Given the description of an element on the screen output the (x, y) to click on. 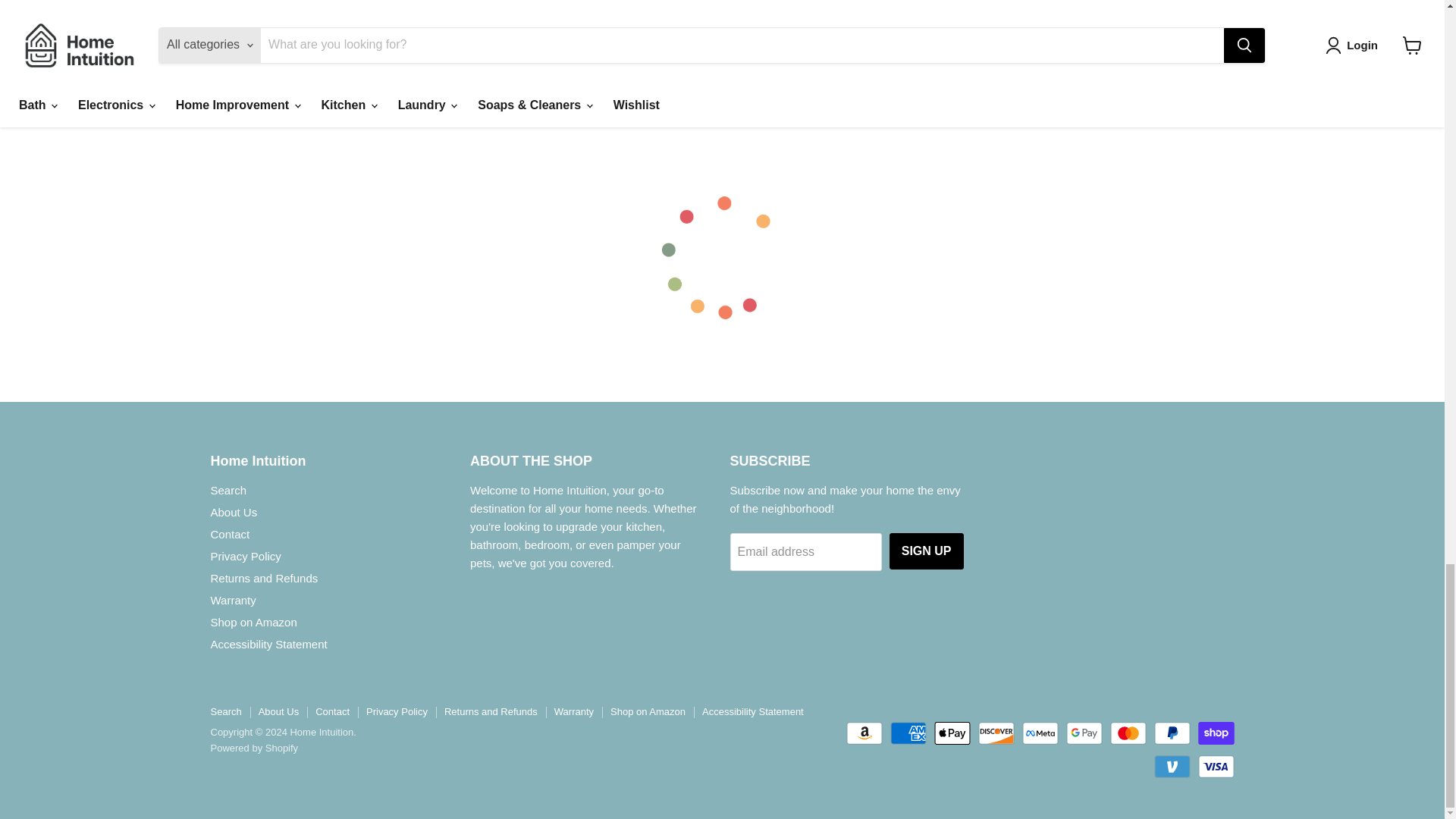
Amazon (863, 732)
